Given the description of an element on the screen output the (x, y) to click on. 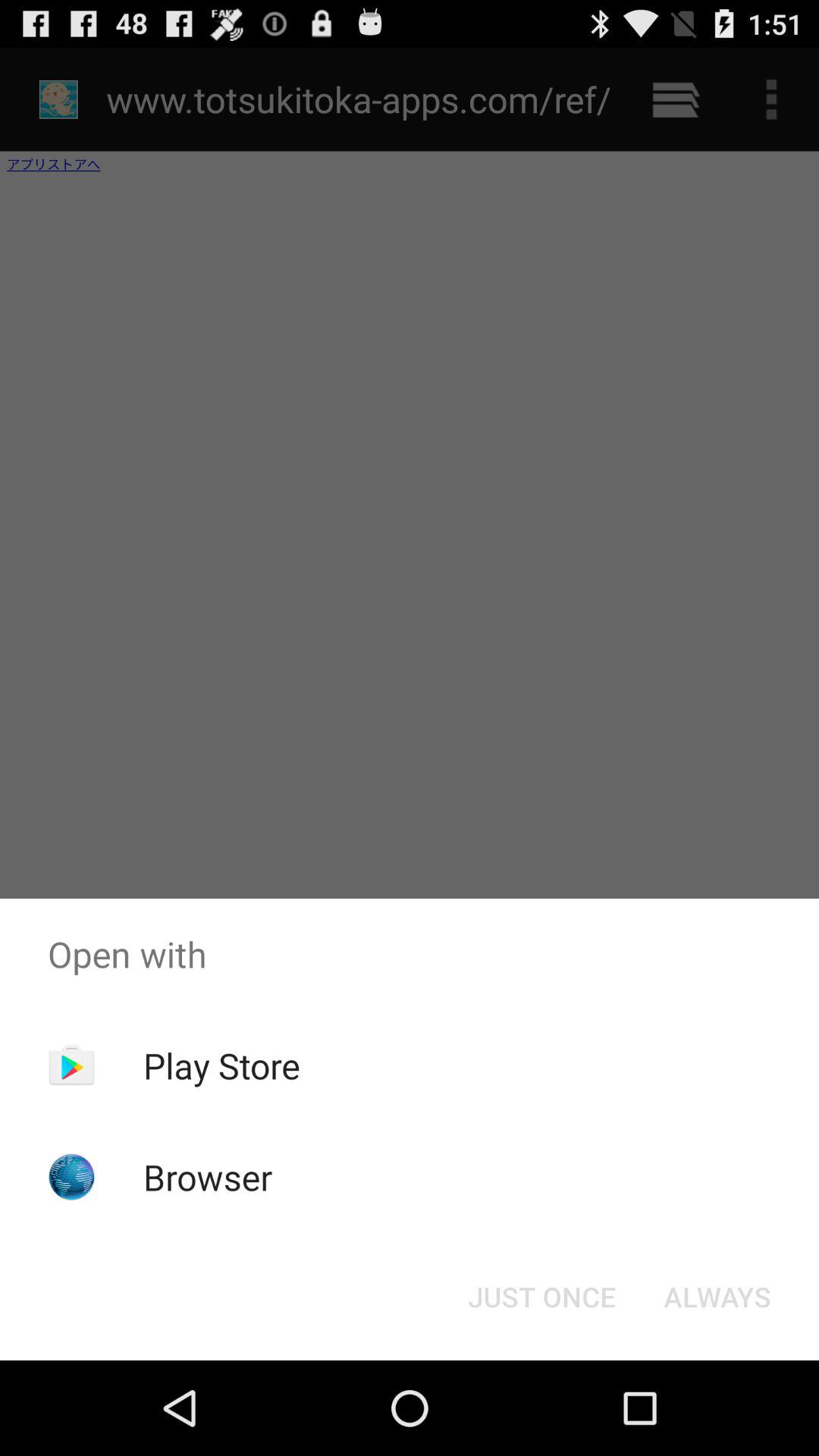
flip until just once icon (541, 1296)
